Given the description of an element on the screen output the (x, y) to click on. 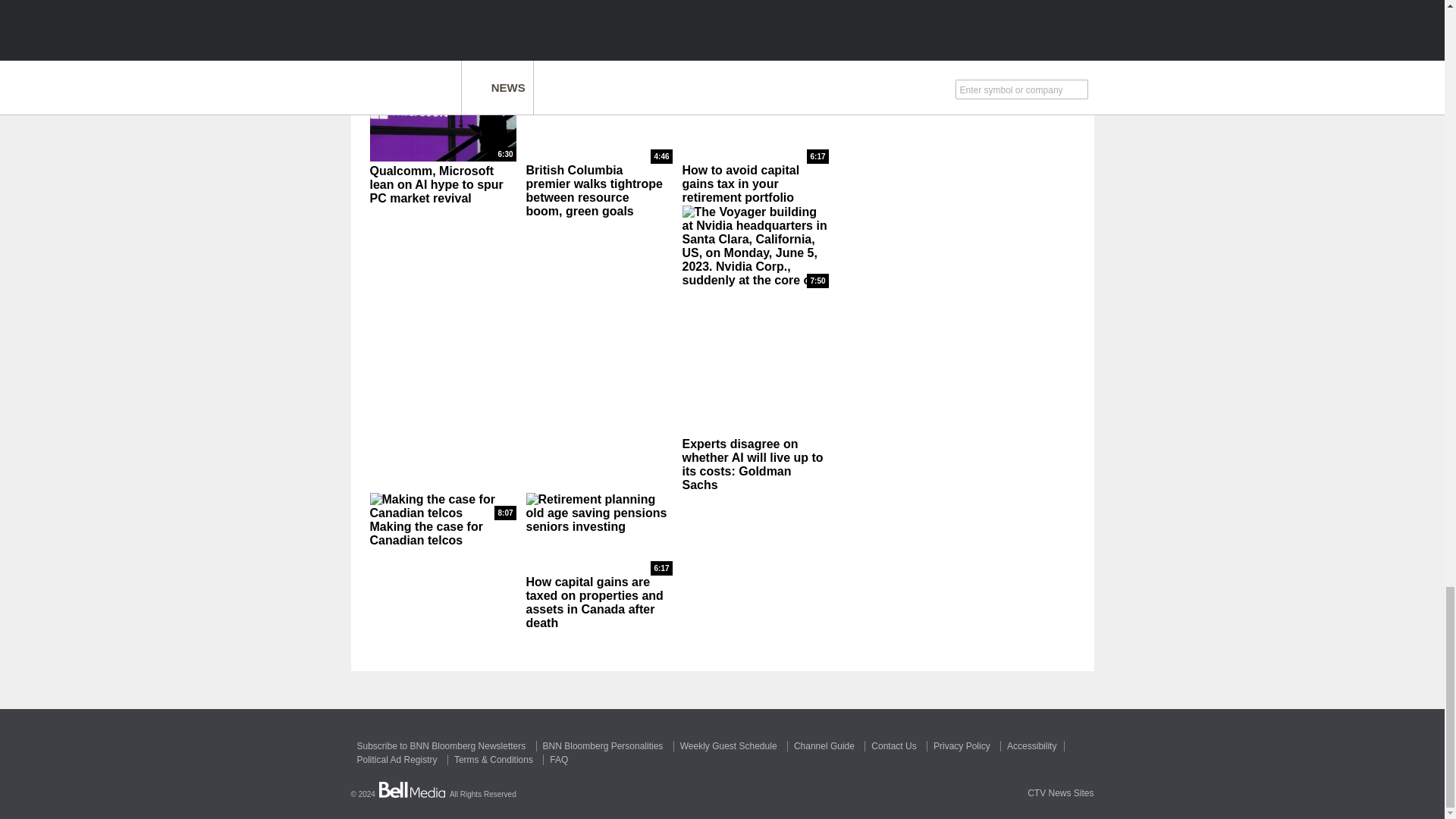
Making the case for Canadian telcos (442, 506)
